Given the description of an element on the screen output the (x, y) to click on. 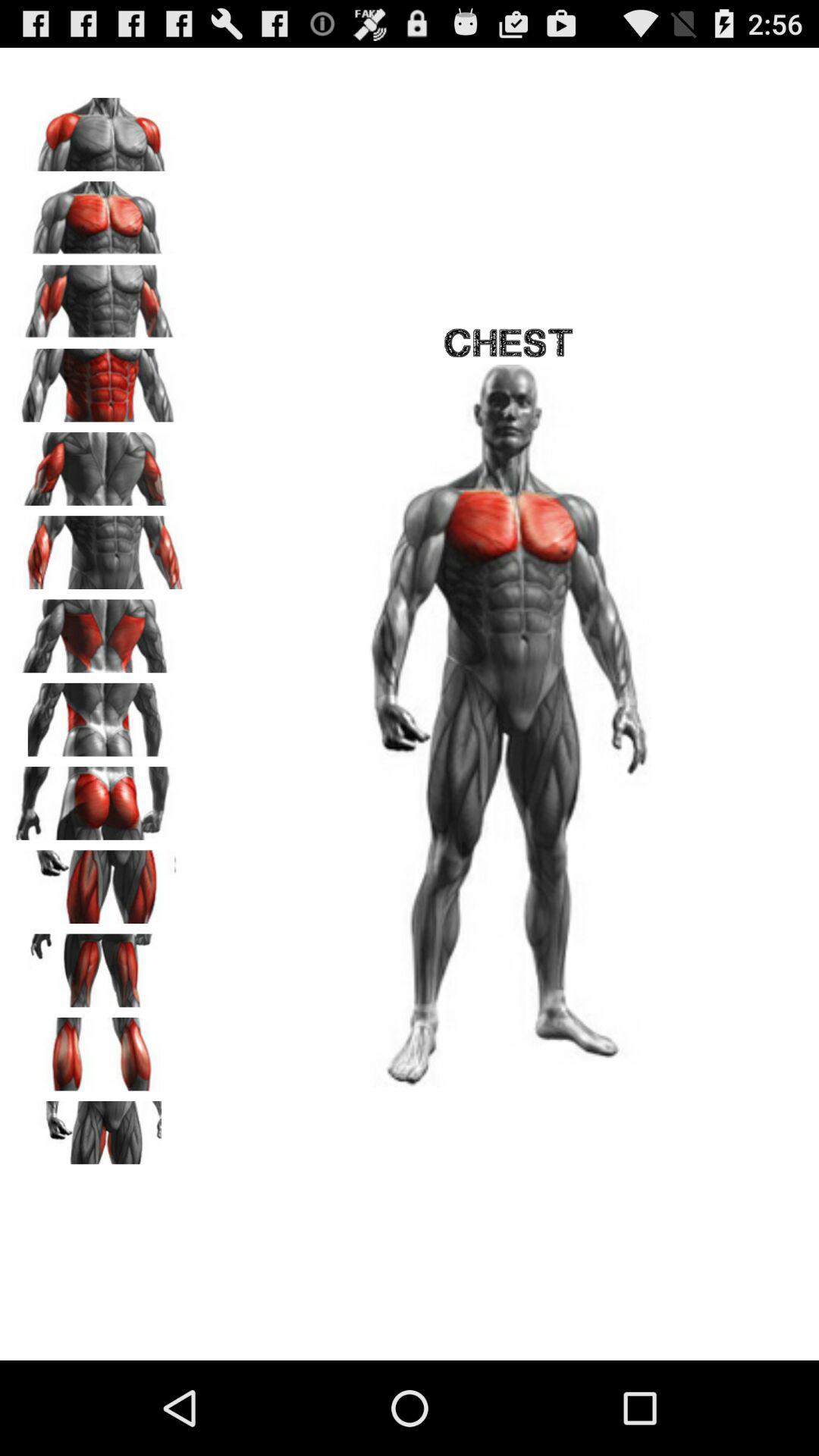
click on this muscle a page opens (99, 630)
